Given the description of an element on the screen output the (x, y) to click on. 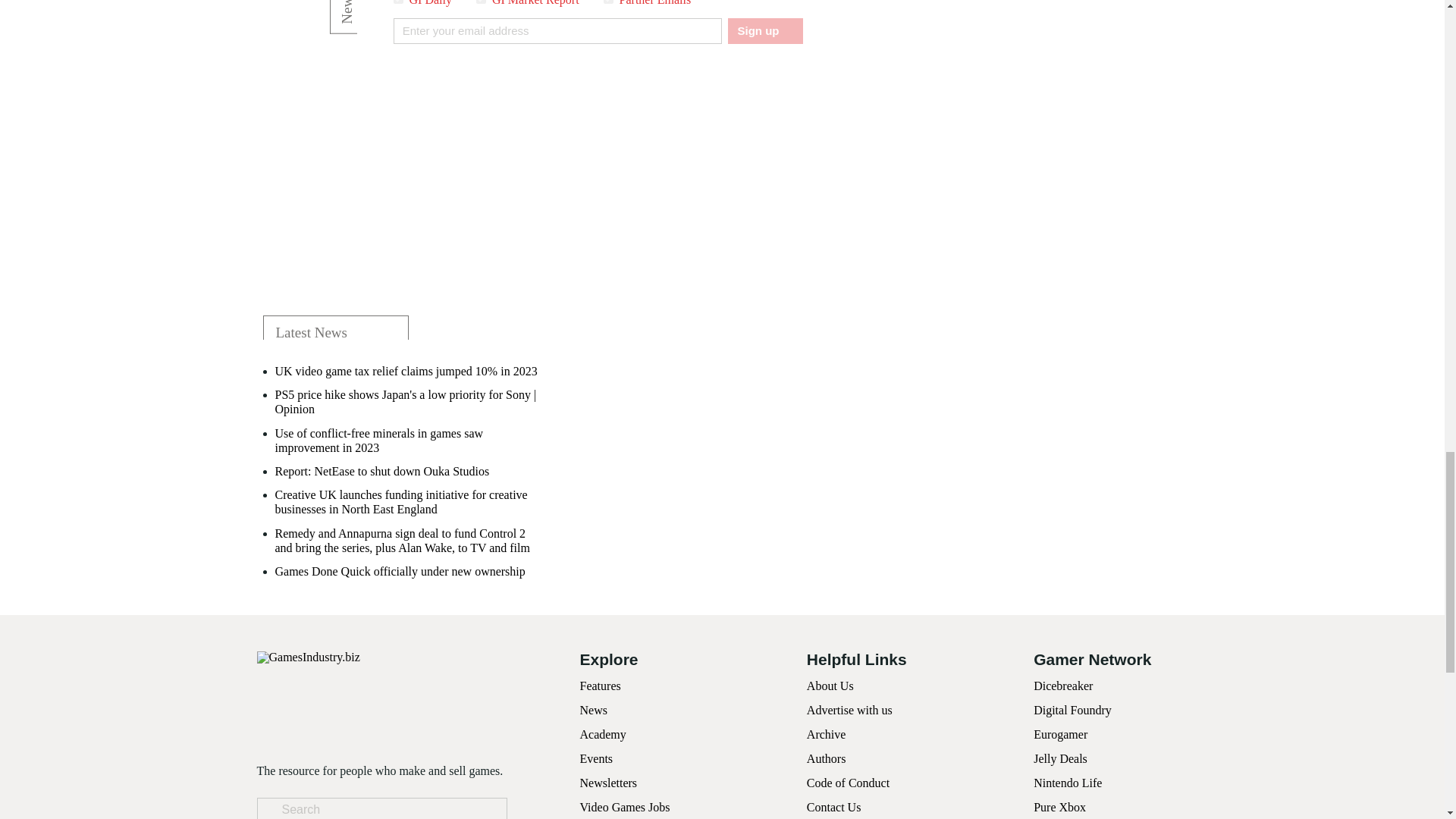
on (481, 2)
Report: NetEase to shut down Ouka Studios (382, 471)
Newsletters (608, 782)
Sign up (765, 31)
Academy (602, 734)
Features (599, 685)
on (398, 2)
Games Done Quick officially under new ownership (399, 571)
